Given the description of an element on the screen output the (x, y) to click on. 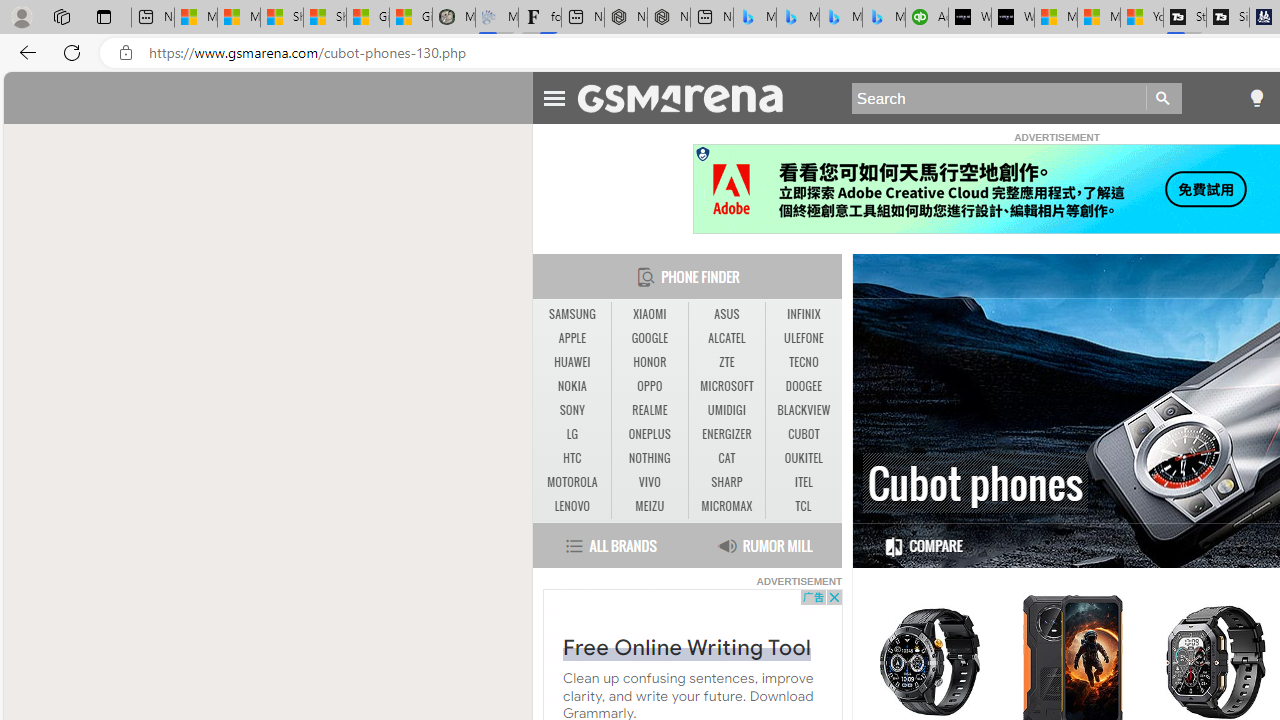
NOKIA (571, 386)
TCL (802, 506)
SAMSUNG (571, 313)
SHARP (726, 483)
ENERGIZER (726, 434)
DOOGEE (803, 385)
